Given the description of an element on the screen output the (x, y) to click on. 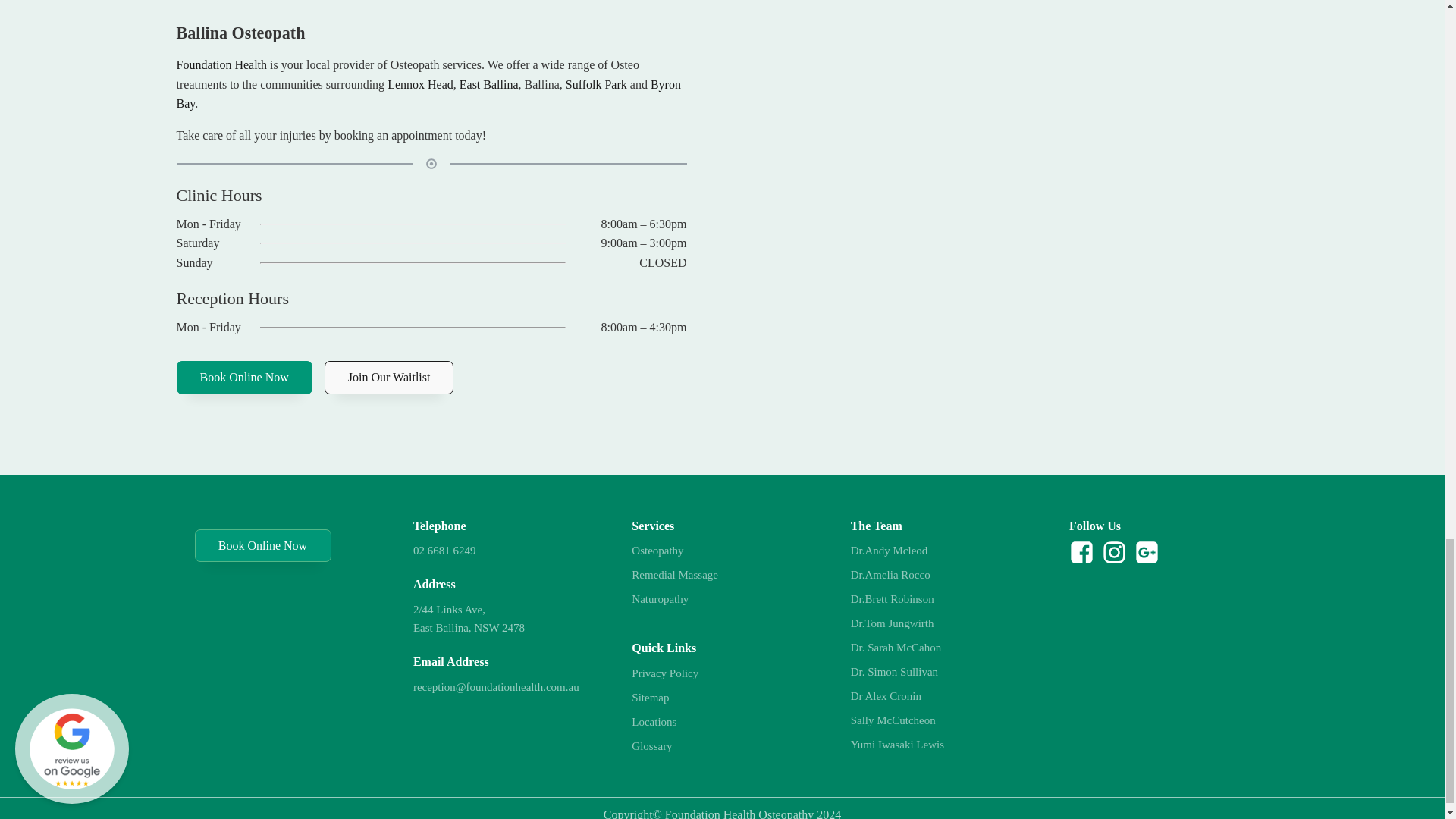
Suffolk Park (596, 83)
Byron Bay (427, 93)
Foundation Health (221, 64)
Lennox Head (419, 83)
East Ballina (489, 83)
Book Online Now (243, 377)
Join Our Waitlist (389, 377)
